Given the description of an element on the screen output the (x, y) to click on. 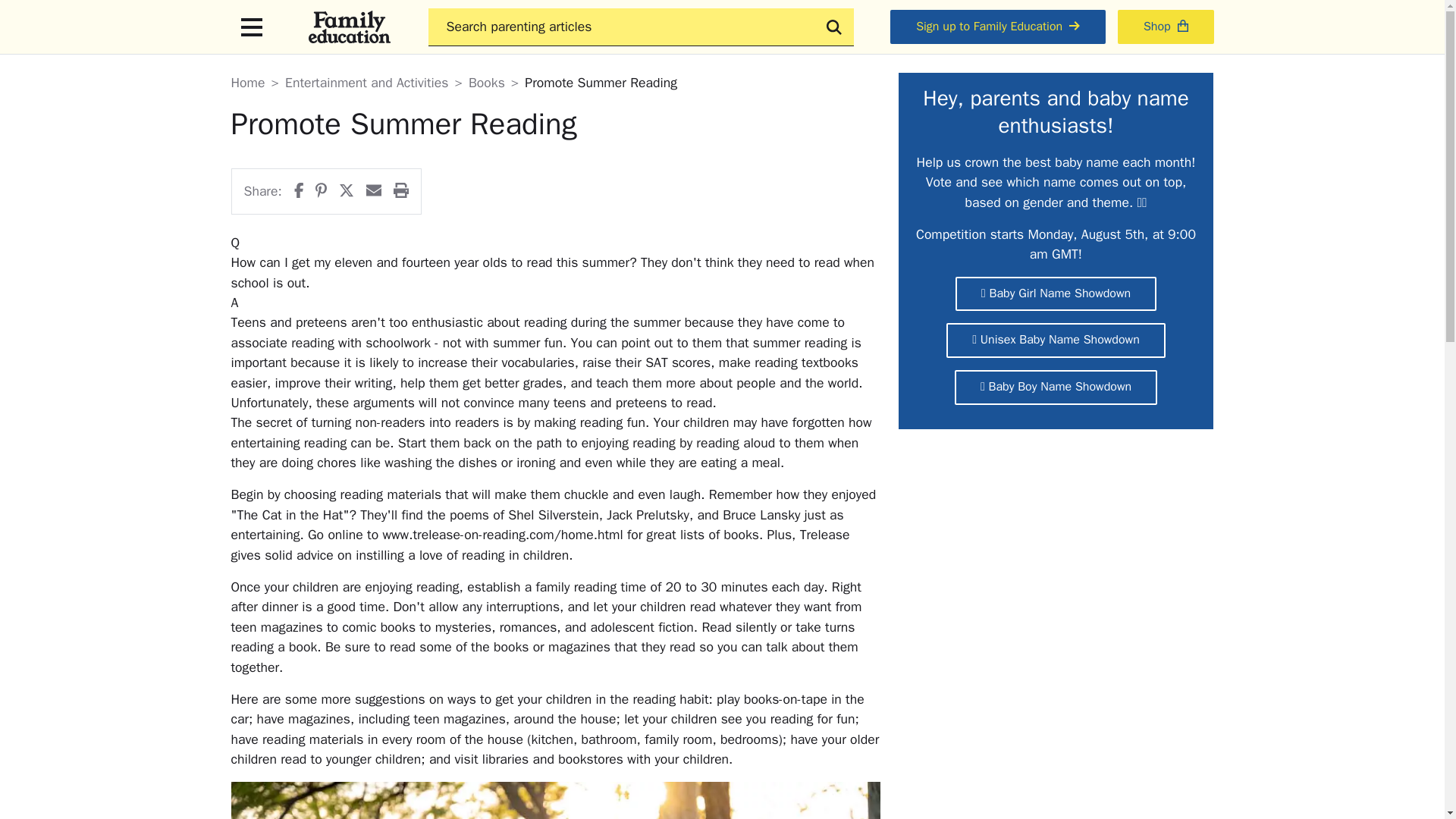
Sign up to Family Education (997, 27)
Shop (1166, 27)
Print this page (401, 190)
Share this page to an email (373, 190)
Share this page to twitter (346, 190)
